Given the description of an element on the screen output the (x, y) to click on. 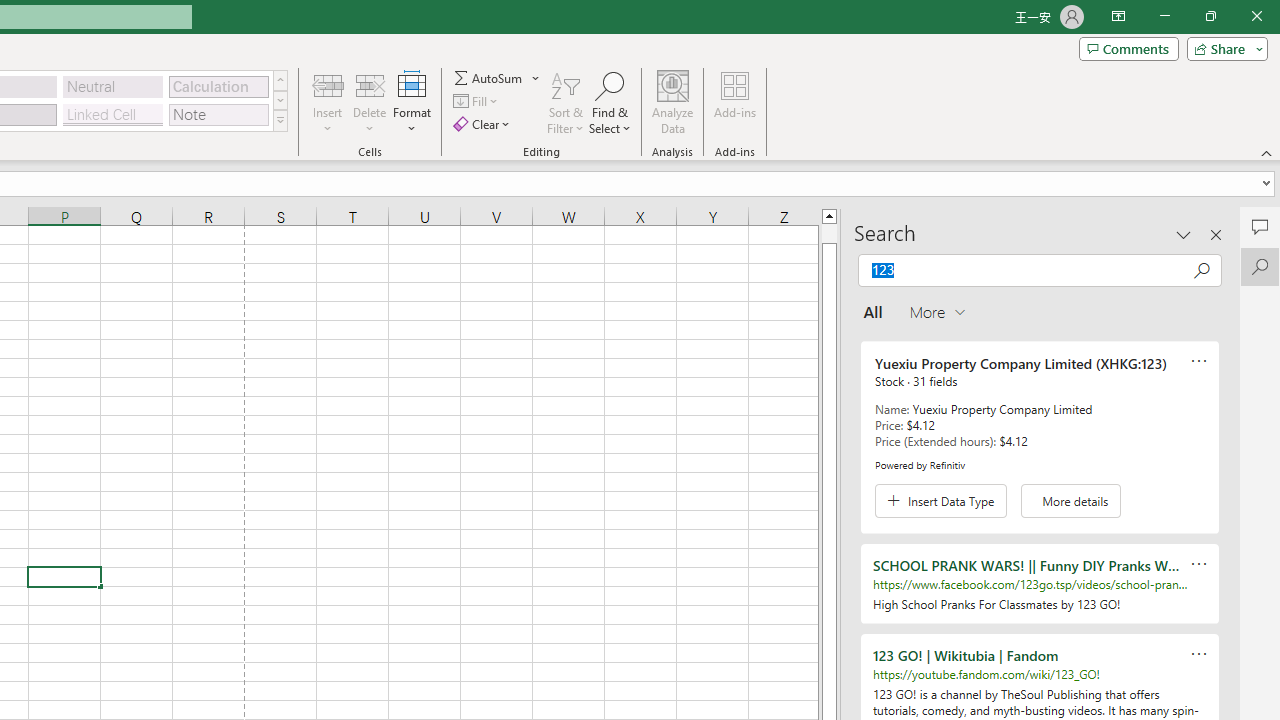
Sum (489, 78)
Insert Cells (328, 84)
Fill (477, 101)
Sort & Filter (566, 102)
Neutral (113, 86)
